Given the description of an element on the screen output the (x, y) to click on. 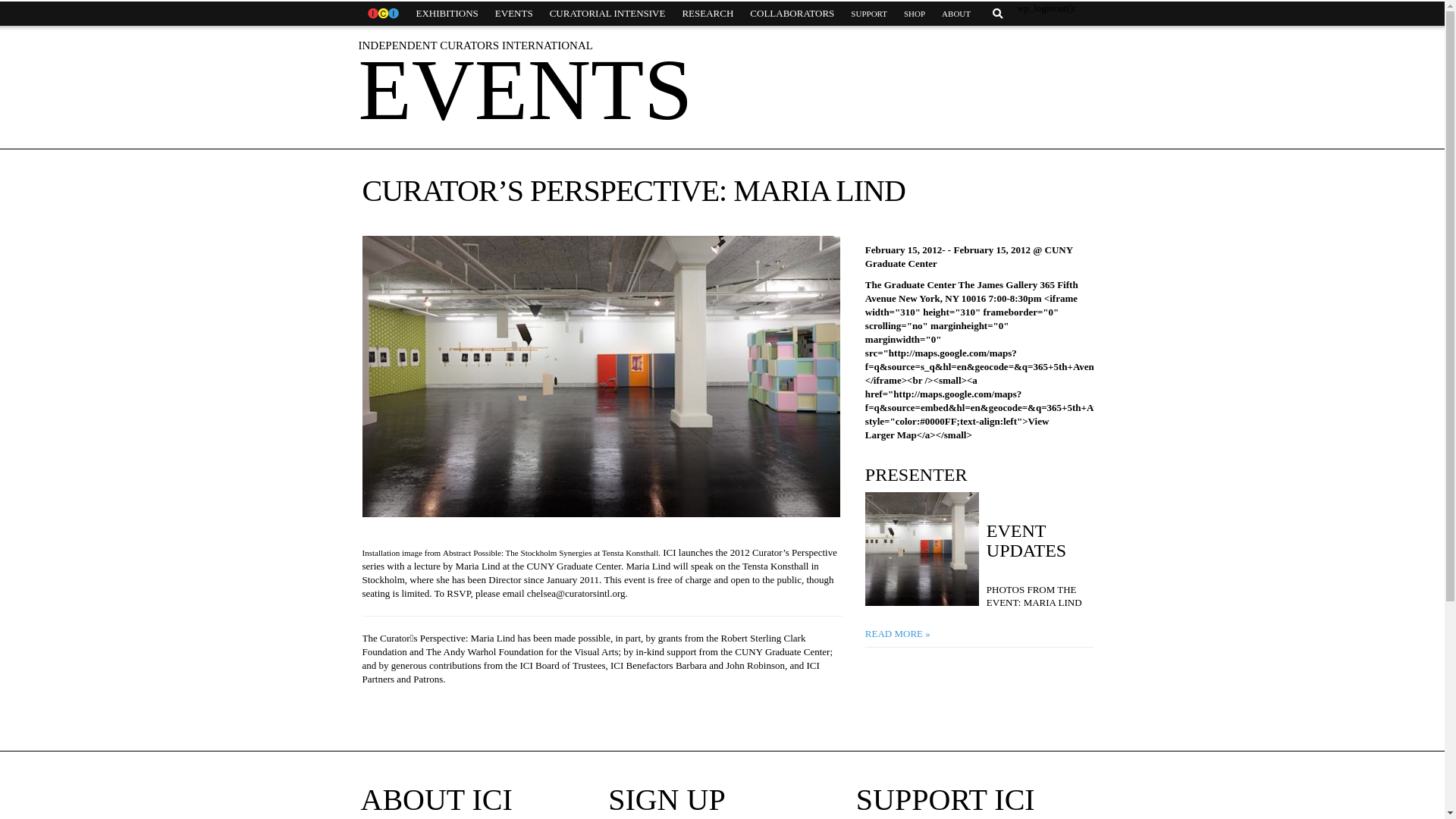
COLLABORATORS (792, 13)
RESEARCH (706, 13)
EXHIBITIONS (446, 13)
EVENTS (513, 13)
CURATORIAL INTENSIVE (607, 13)
HOME (382, 13)
